Given the description of an element on the screen output the (x, y) to click on. 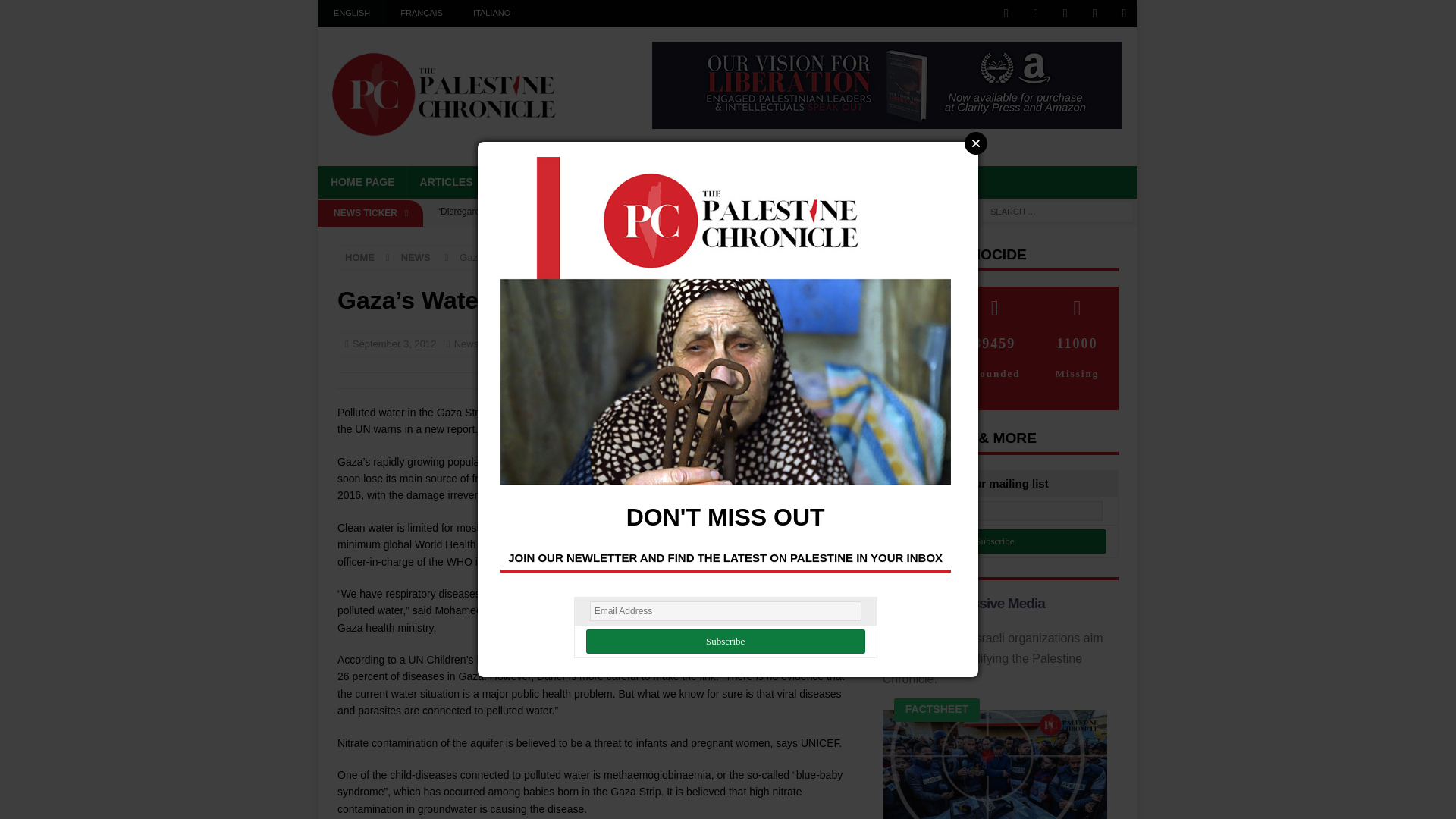
REVIEWS (699, 182)
SUPPORT US (846, 182)
VIDEOS (629, 182)
ITALIANO (491, 13)
Subscribe (994, 541)
CONTACT US (940, 182)
Subscribe (725, 641)
Search (56, 11)
ABOUT (767, 182)
NEWS (512, 182)
War on Progressive Media (963, 602)
BLOG (568, 182)
ENGLISH (351, 13)
ARTICLES (445, 182)
